Given the description of an element on the screen output the (x, y) to click on. 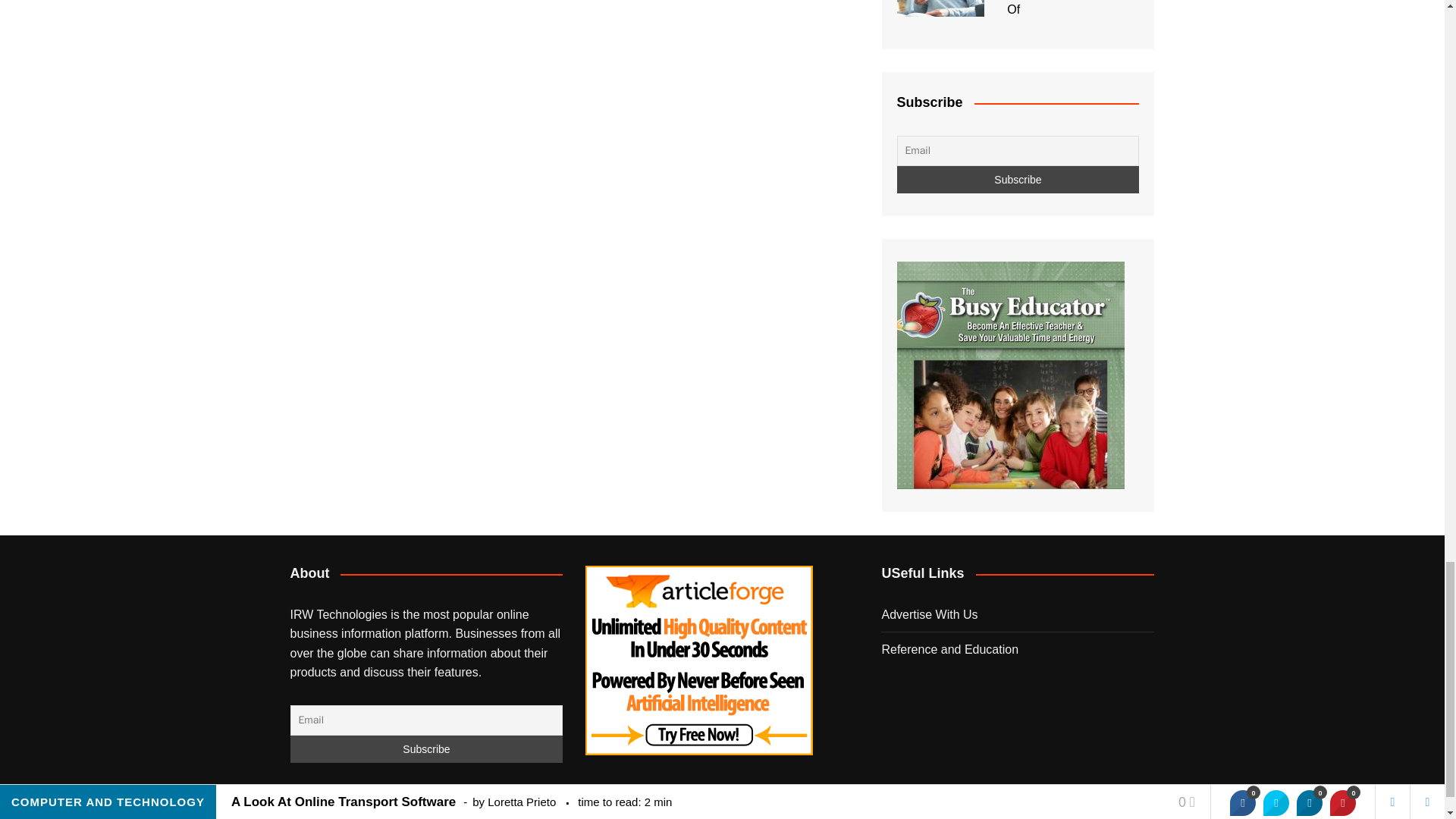
Subscribe (1017, 179)
Subscribe (425, 748)
